Given the description of an element on the screen output the (x, y) to click on. 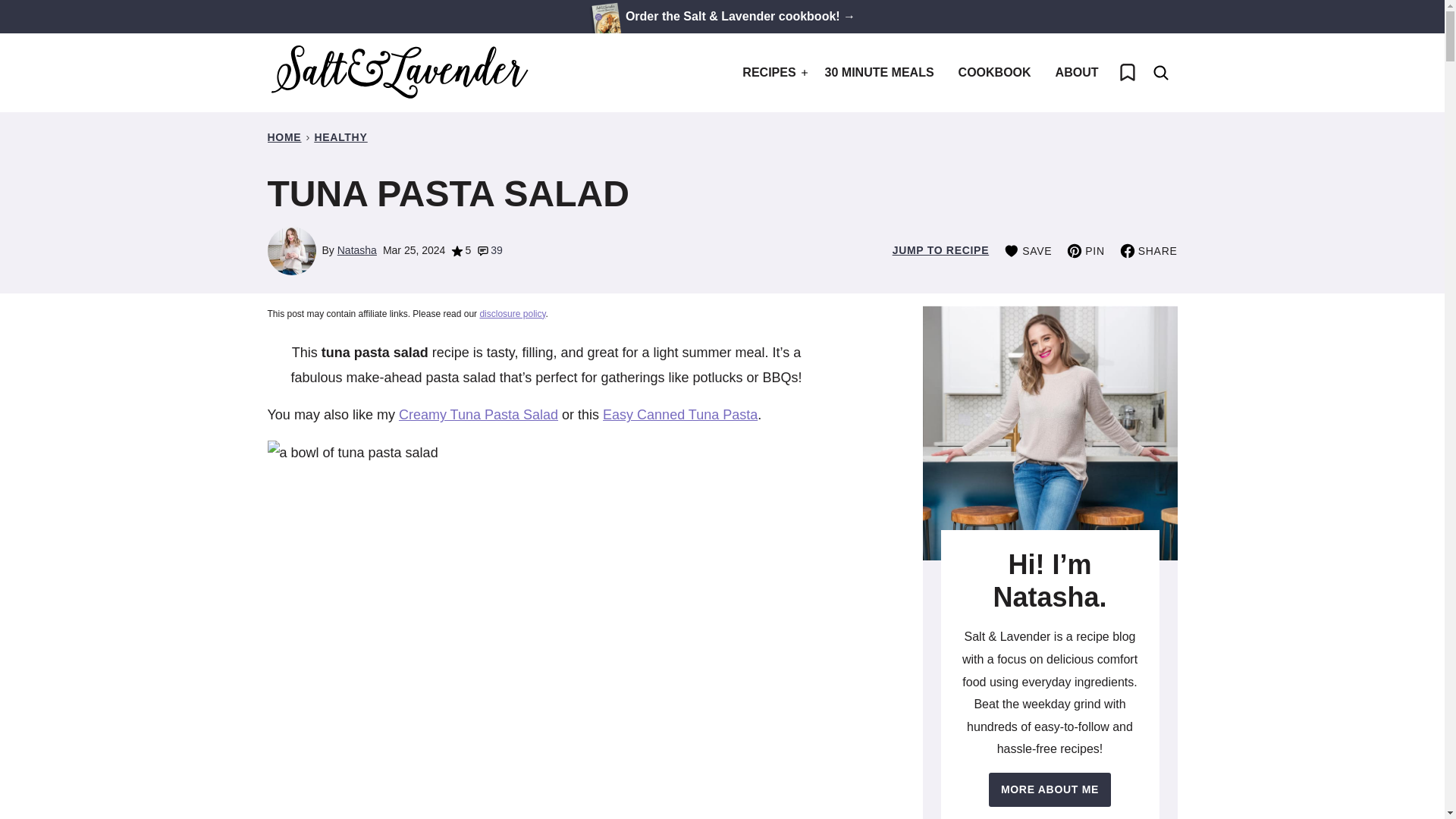
30 MINUTE MEALS (879, 72)
JUMP TO RECIPE (941, 250)
ABOUT (1076, 72)
SAVE (1027, 250)
Share on Pinterest (1085, 250)
39 (489, 250)
disclosure policy (511, 313)
Easy Canned Tuna Pasta (679, 414)
RECIPES (771, 72)
HEALTHY (340, 137)
My Favorites (1125, 72)
PIN (1085, 250)
HOME (283, 137)
Share on Facebook (1148, 250)
Natasha (357, 250)
